Given the description of an element on the screen output the (x, y) to click on. 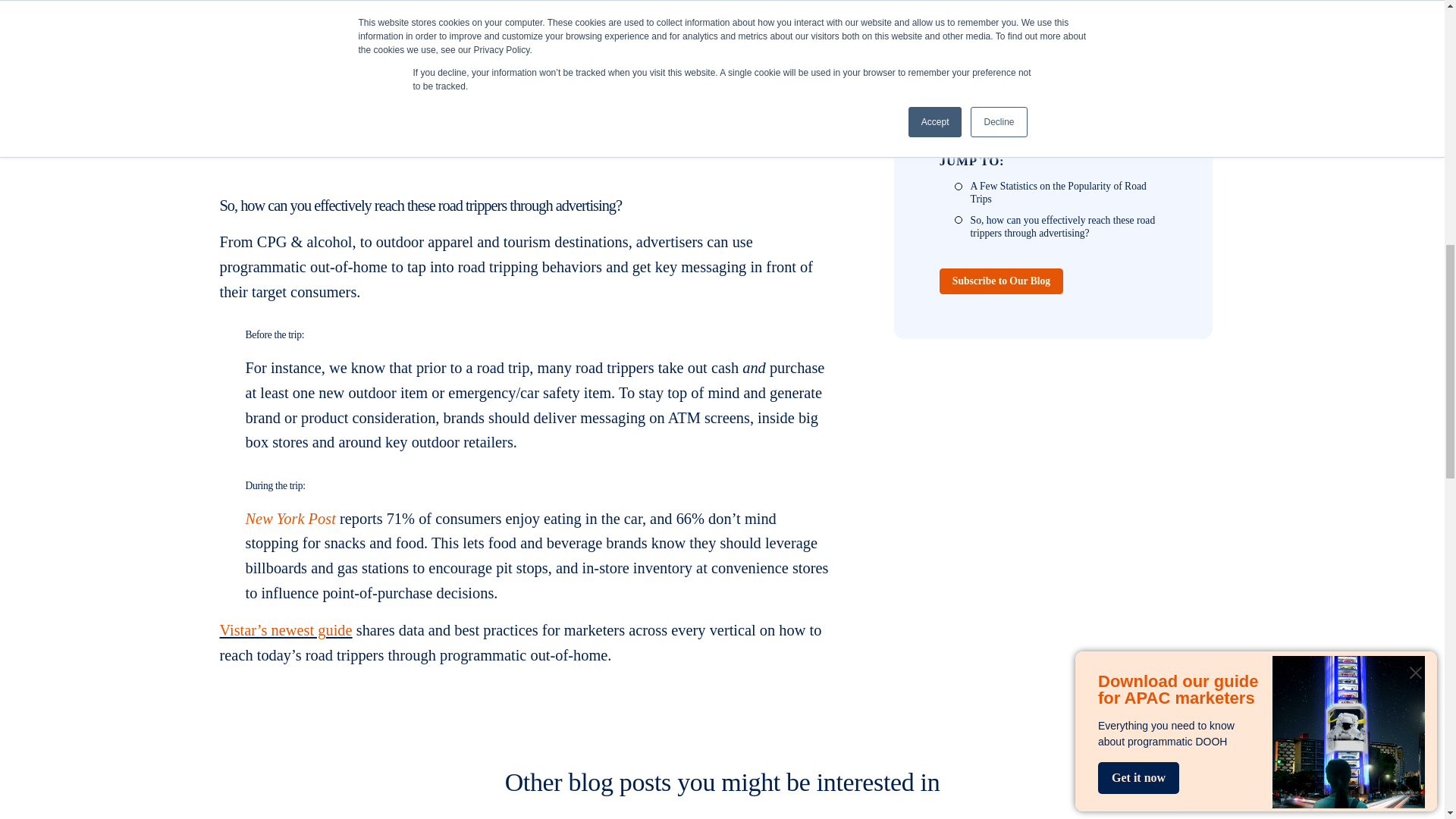
The OAAA shares supporting research (455, 57)
New York Post (341, 754)
